Given the description of an element on the screen output the (x, y) to click on. 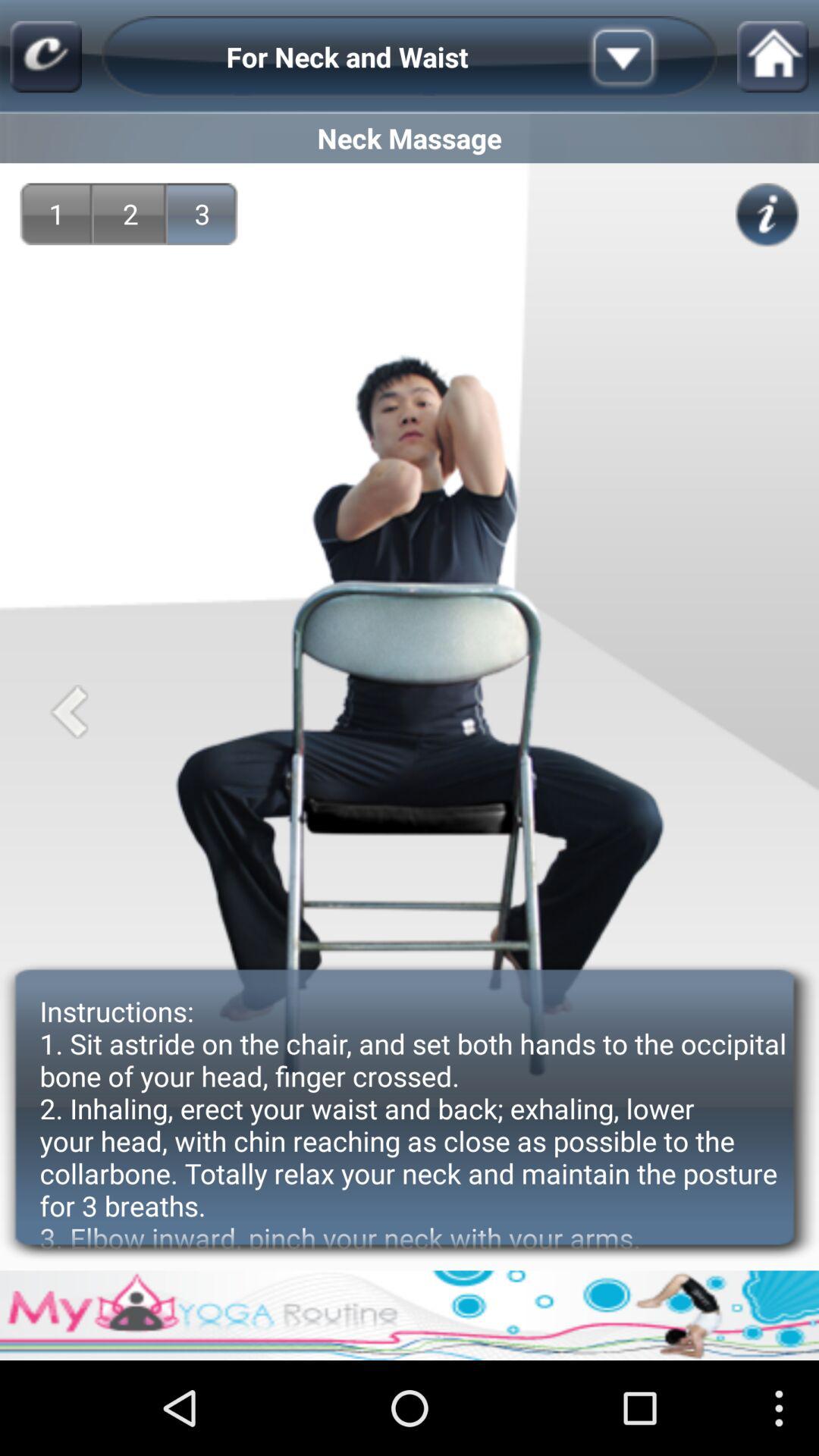
open the item next to the for neck and app (646, 56)
